Given the description of an element on the screen output the (x, y) to click on. 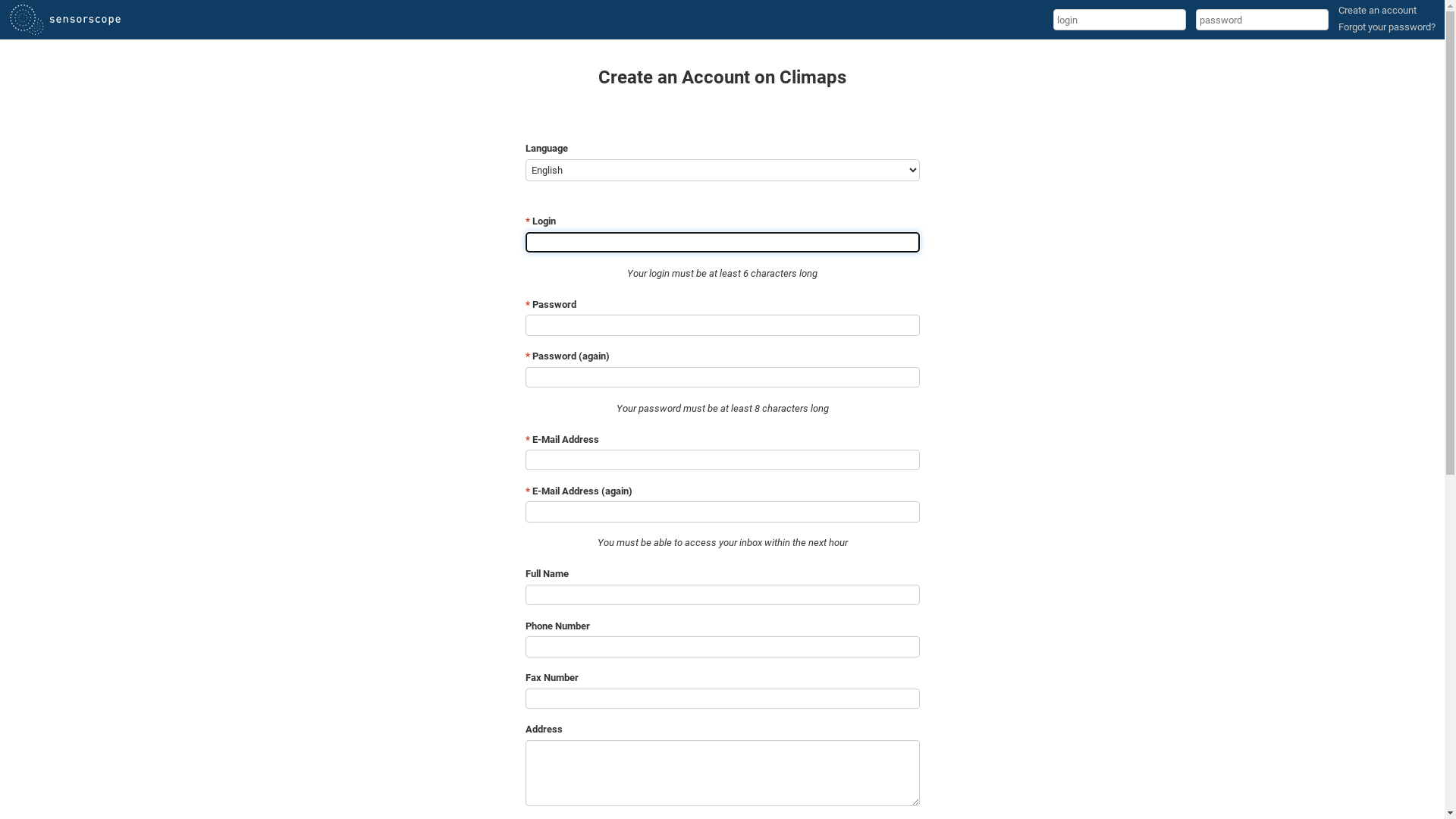
Create an account Element type: text (1377, 9)
